Given the description of an element on the screen output the (x, y) to click on. 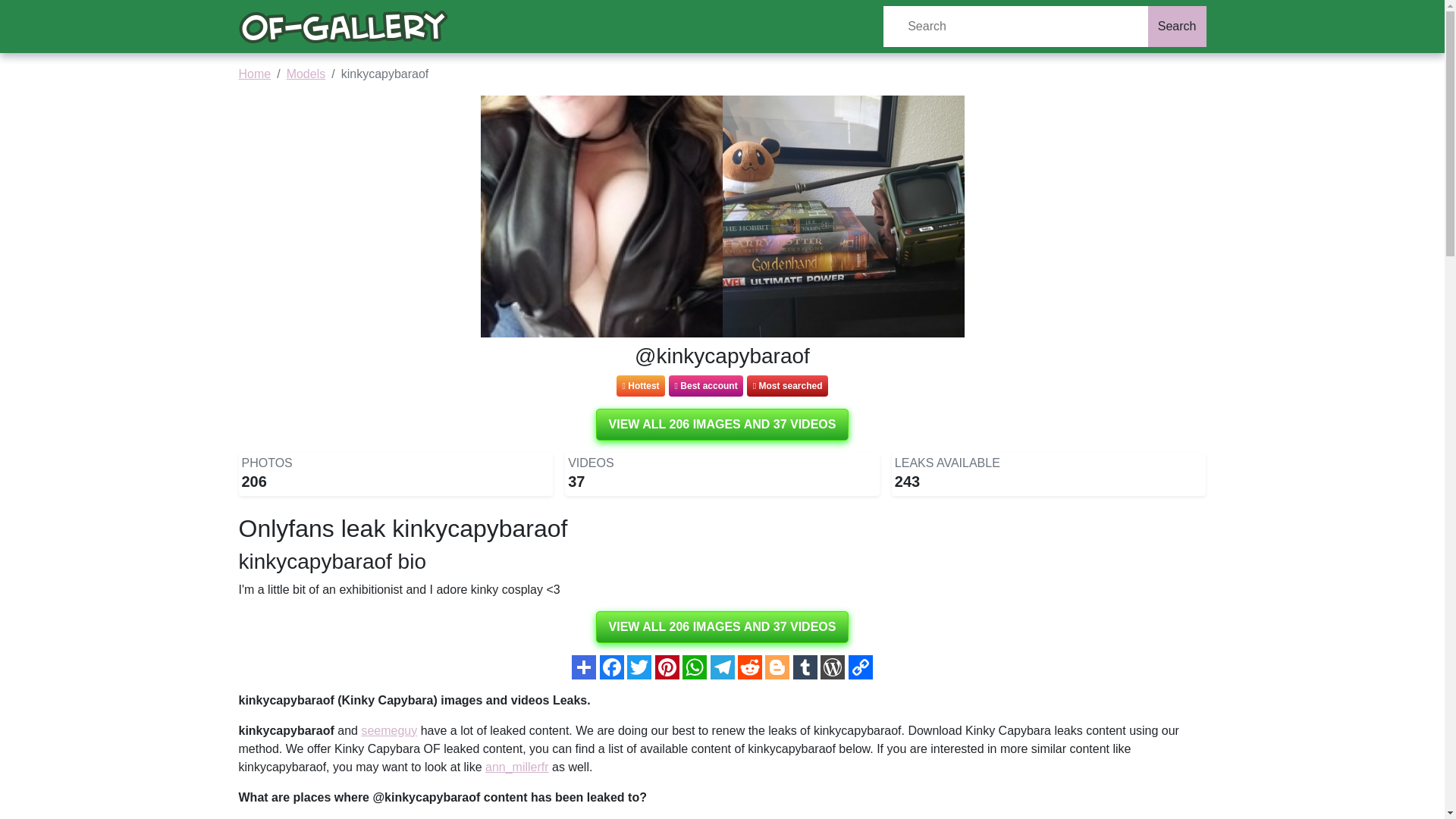
seemeguy (388, 730)
VIEW ALL 206 IMAGES AND 37 VIDEOS (721, 424)
Home (254, 73)
Models (306, 73)
VIEW ALL 206 IMAGES AND 37 VIDEOS (721, 626)
Search (1177, 25)
